Given the description of an element on the screen output the (x, y) to click on. 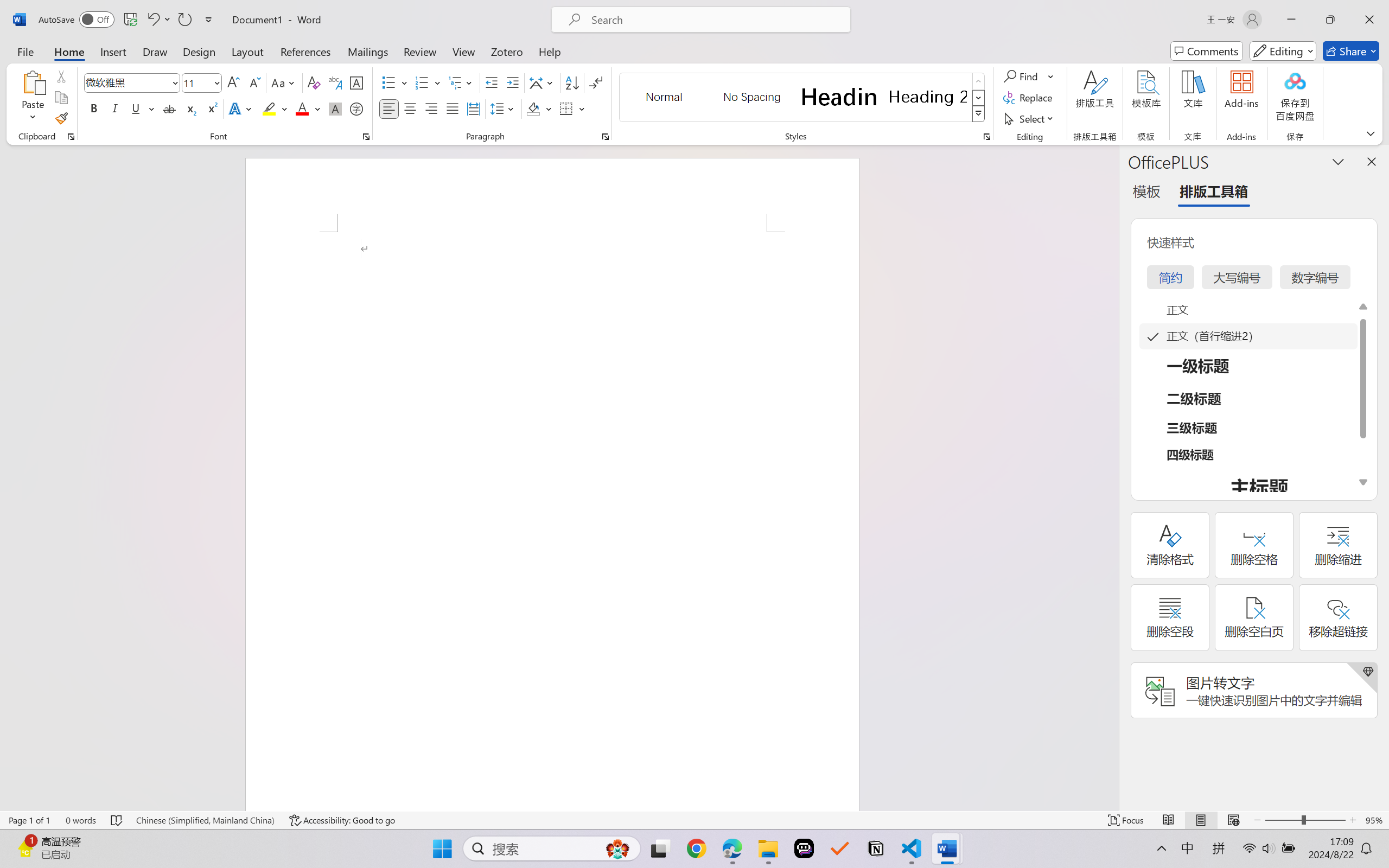
Undo <ApplyStyleToDoc>b__0 (158, 19)
